Given the description of an element on the screen output the (x, y) to click on. 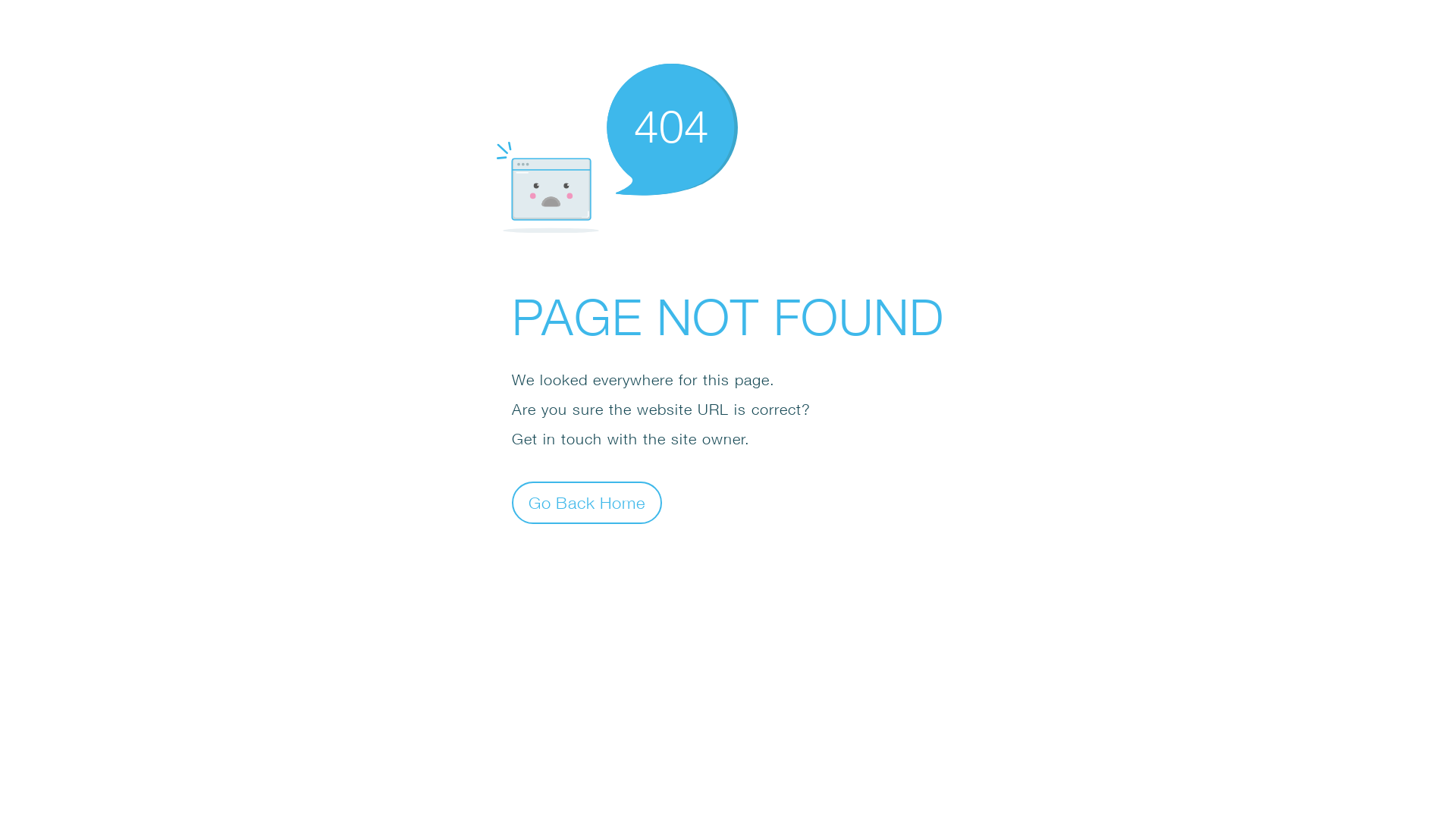
Go Back Home Element type: text (586, 502)
